Given the description of an element on the screen output the (x, y) to click on. 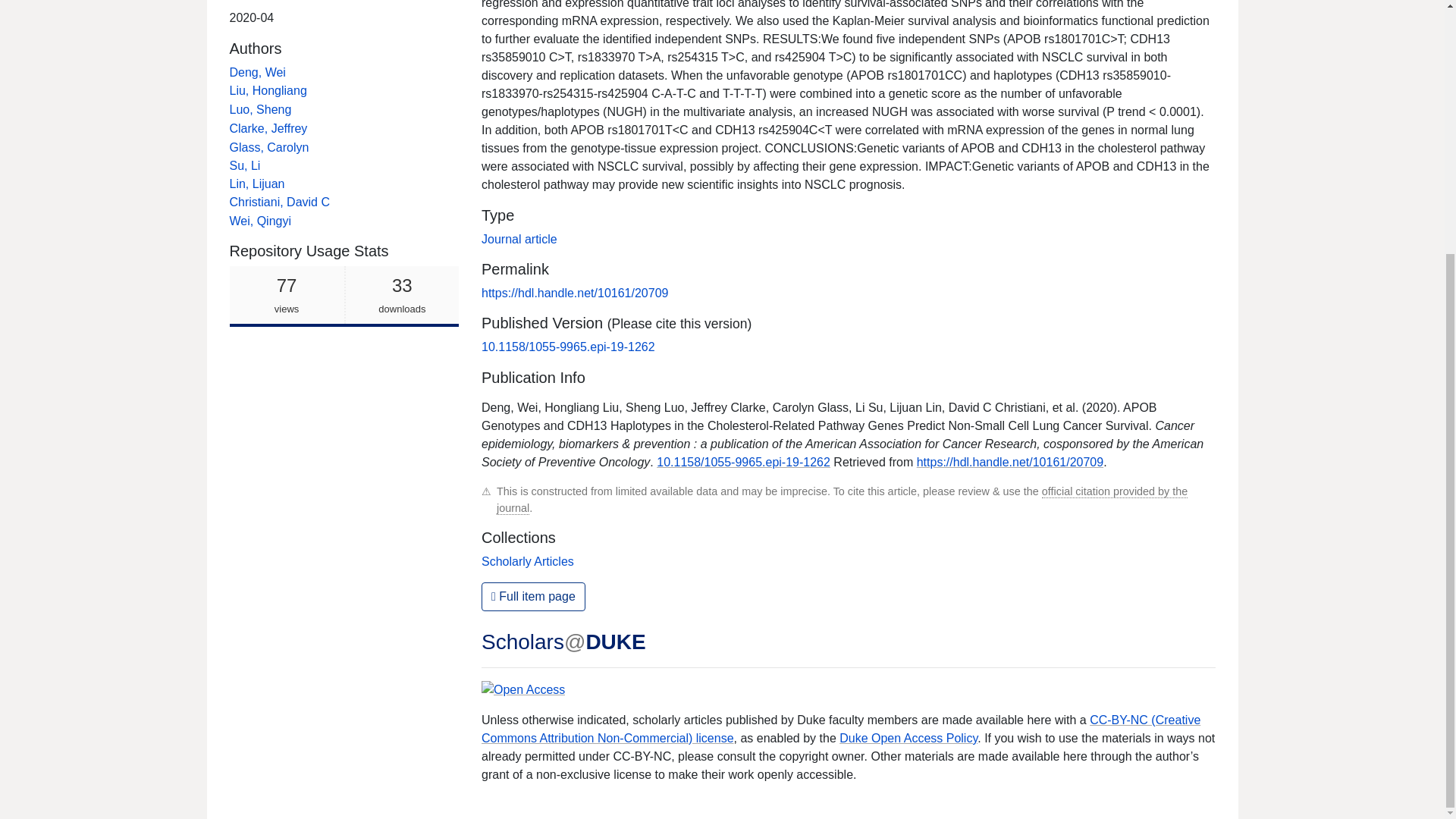
Wei, Qingyi (261, 220)
Luo, Sheng (261, 109)
Christiani, David C (278, 201)
Lin, Lijuan (255, 183)
Glass, Carolyn (269, 146)
Liu, Hongliang (343, 296)
Su, Li (266, 90)
Deng, Wei (244, 164)
Journal article (256, 72)
